Given the description of an element on the screen output the (x, y) to click on. 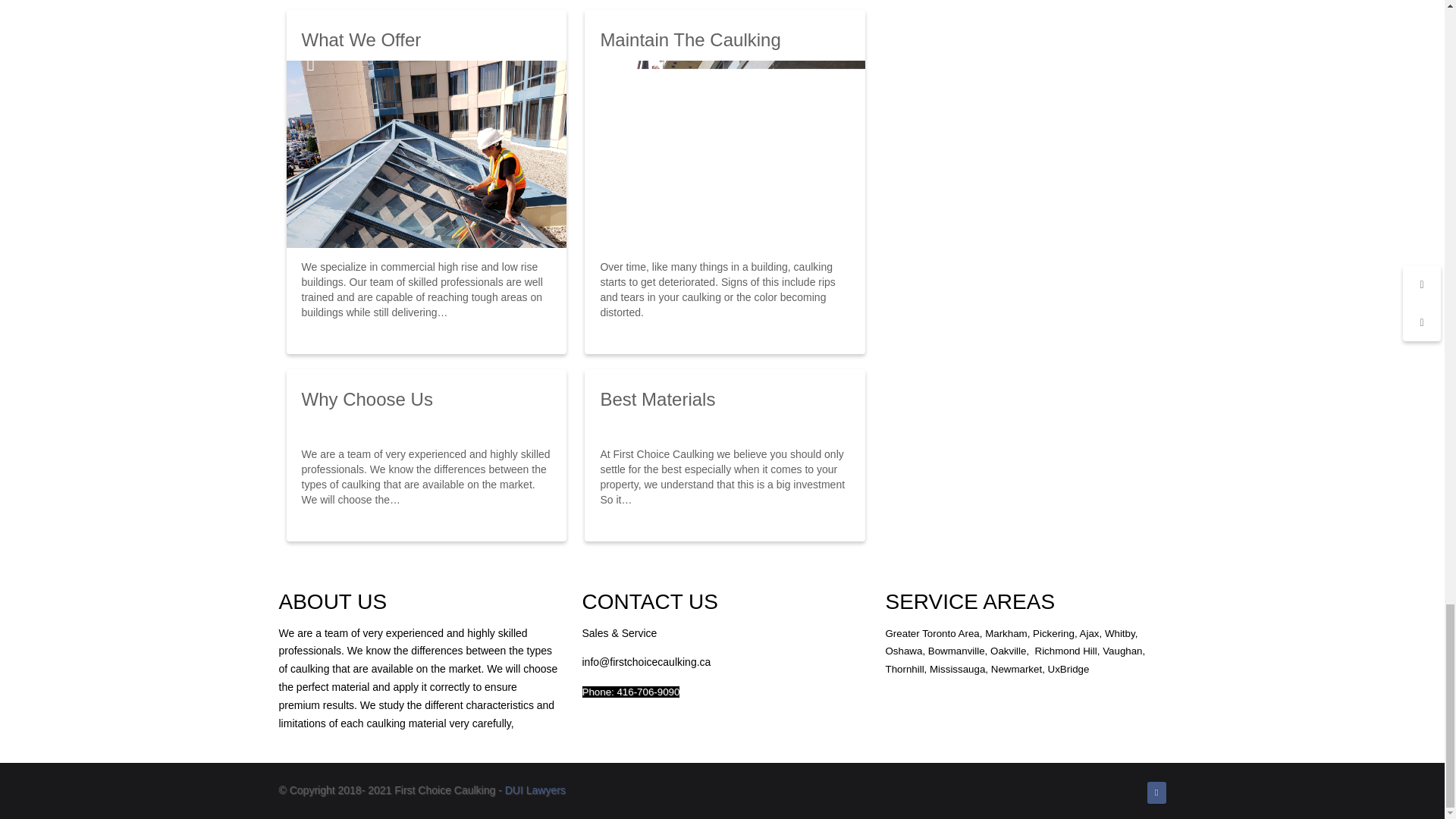
DUI Lawyers (535, 789)
